Given the description of an element on the screen output the (x, y) to click on. 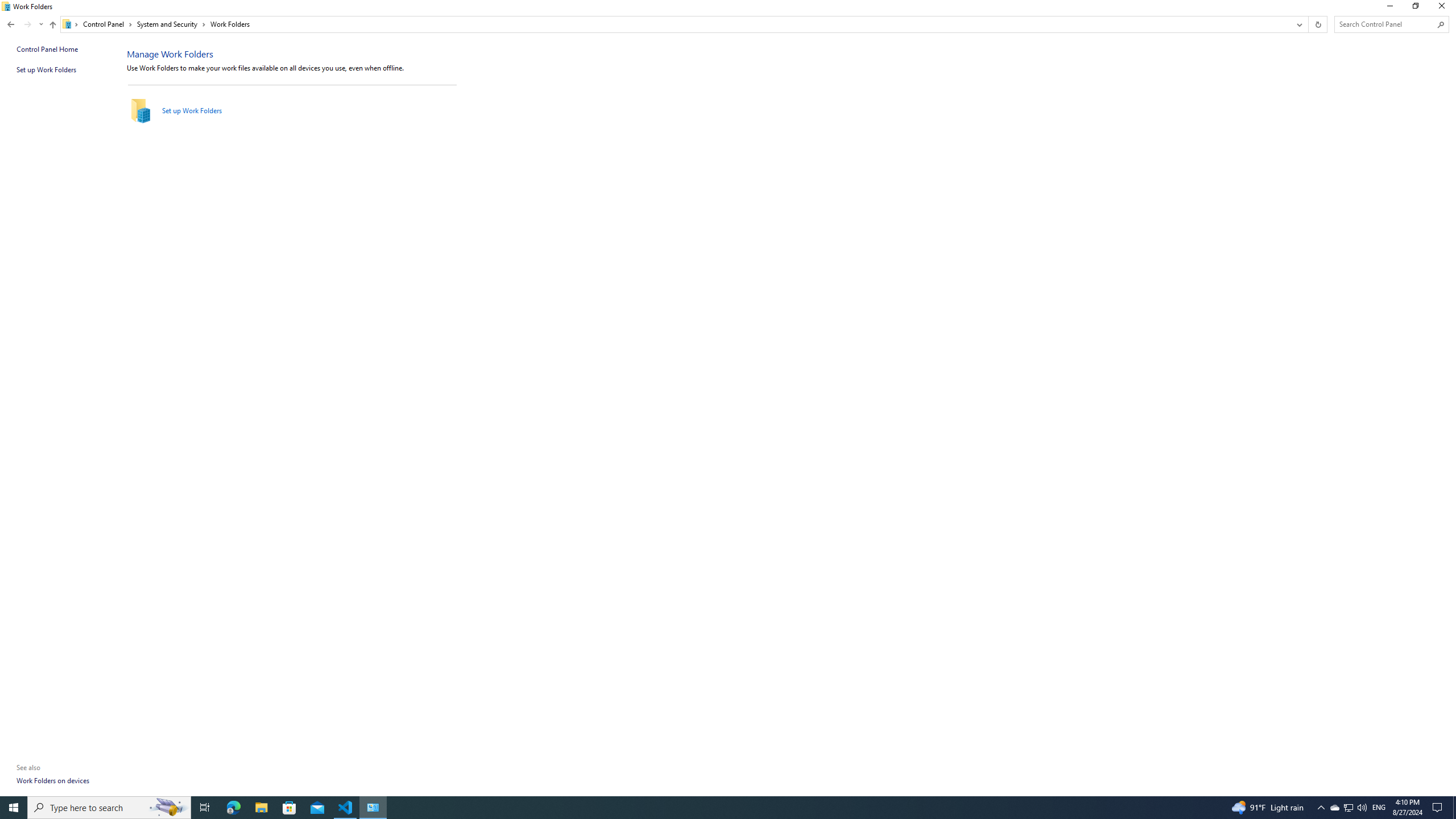
System (6, 6)
Work Folders (229, 23)
Previous Locations (1298, 23)
Up to "System and Security" (Alt + Up Arrow) (52, 24)
System (6, 6)
System and Security (171, 23)
Navigation buttons (24, 23)
Control Panel - 1 running window (373, 807)
All locations (70, 23)
Forward (Alt + Right Arrow) (27, 23)
Control Panel (107, 23)
